Given the description of an element on the screen output the (x, y) to click on. 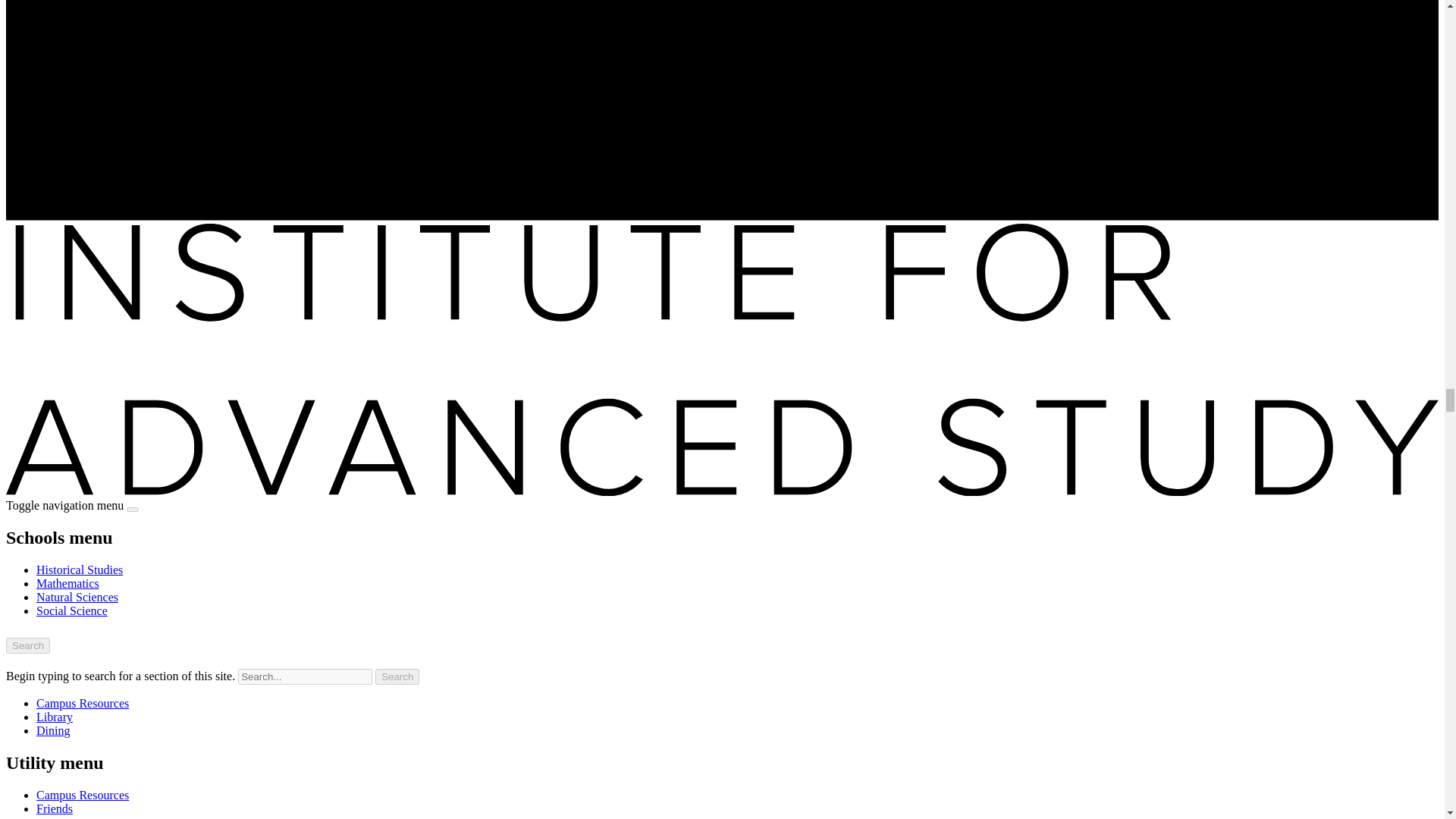
Social Science (71, 610)
Mathematics (67, 583)
Campus Resources (82, 703)
Friends (54, 808)
Search (27, 645)
Natural Sciences (76, 596)
Dining (52, 730)
Campus Resources (82, 794)
Library (54, 716)
Search (397, 676)
